Given the description of an element on the screen output the (x, y) to click on. 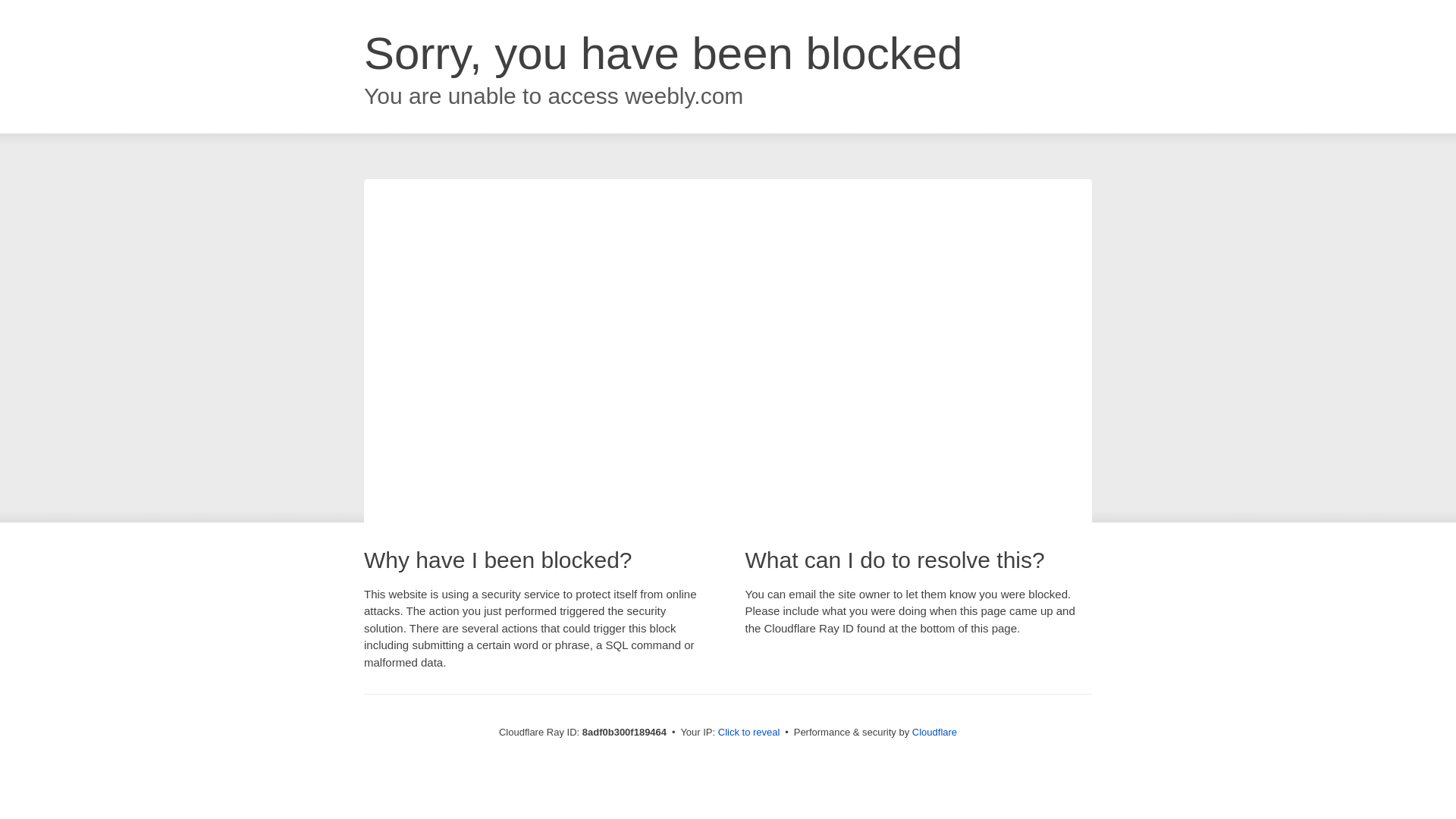
Cloudflare (934, 731)
Click to reveal (748, 732)
